Given the description of an element on the screen output the (x, y) to click on. 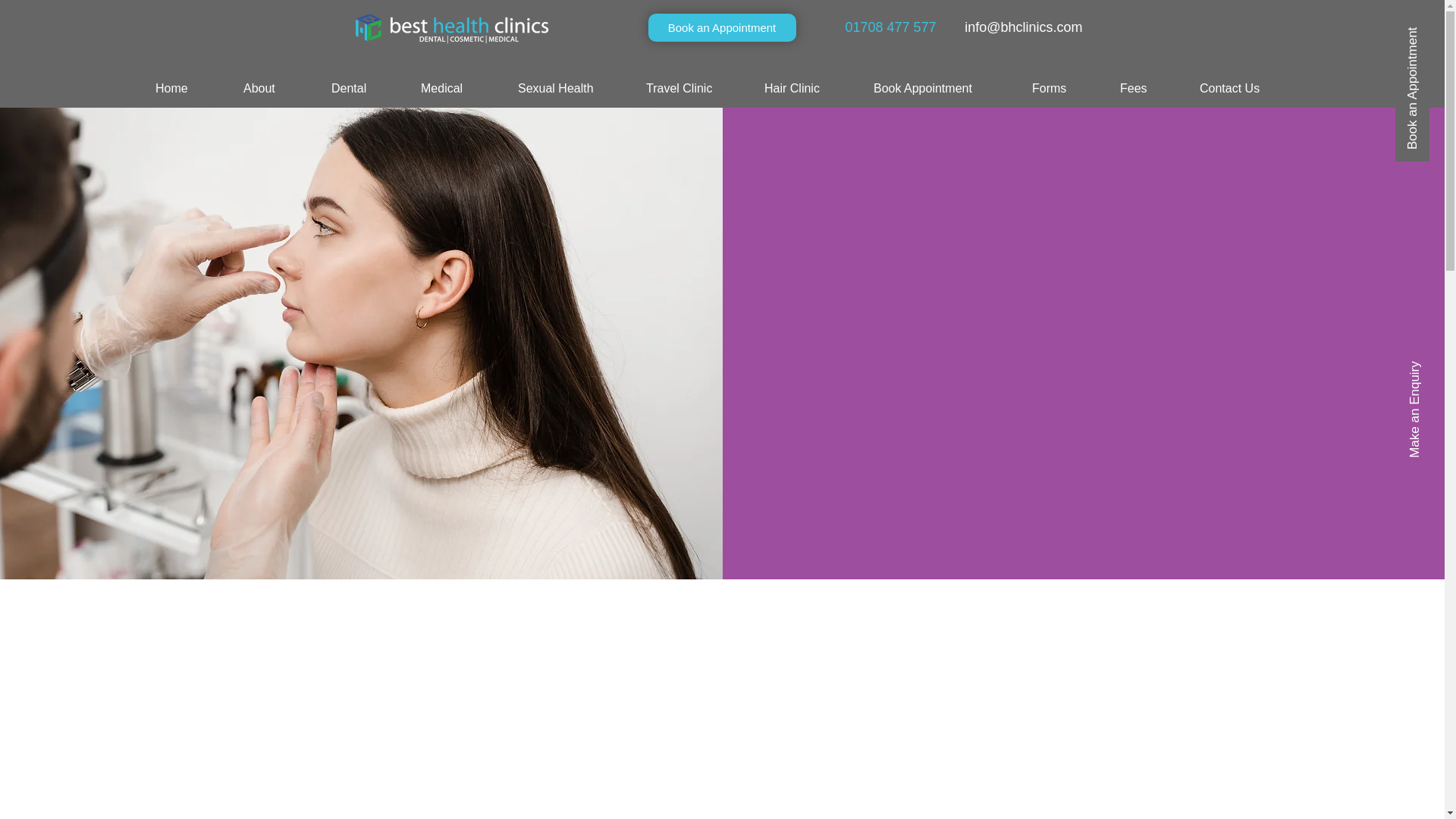
Dental (364, 88)
Sexual Health (570, 88)
Home (187, 88)
About (275, 88)
01708 477 577 (890, 27)
Medical (457, 88)
Book an Appointment (720, 27)
Travel Clinic (693, 88)
